Given the description of an element on the screen output the (x, y) to click on. 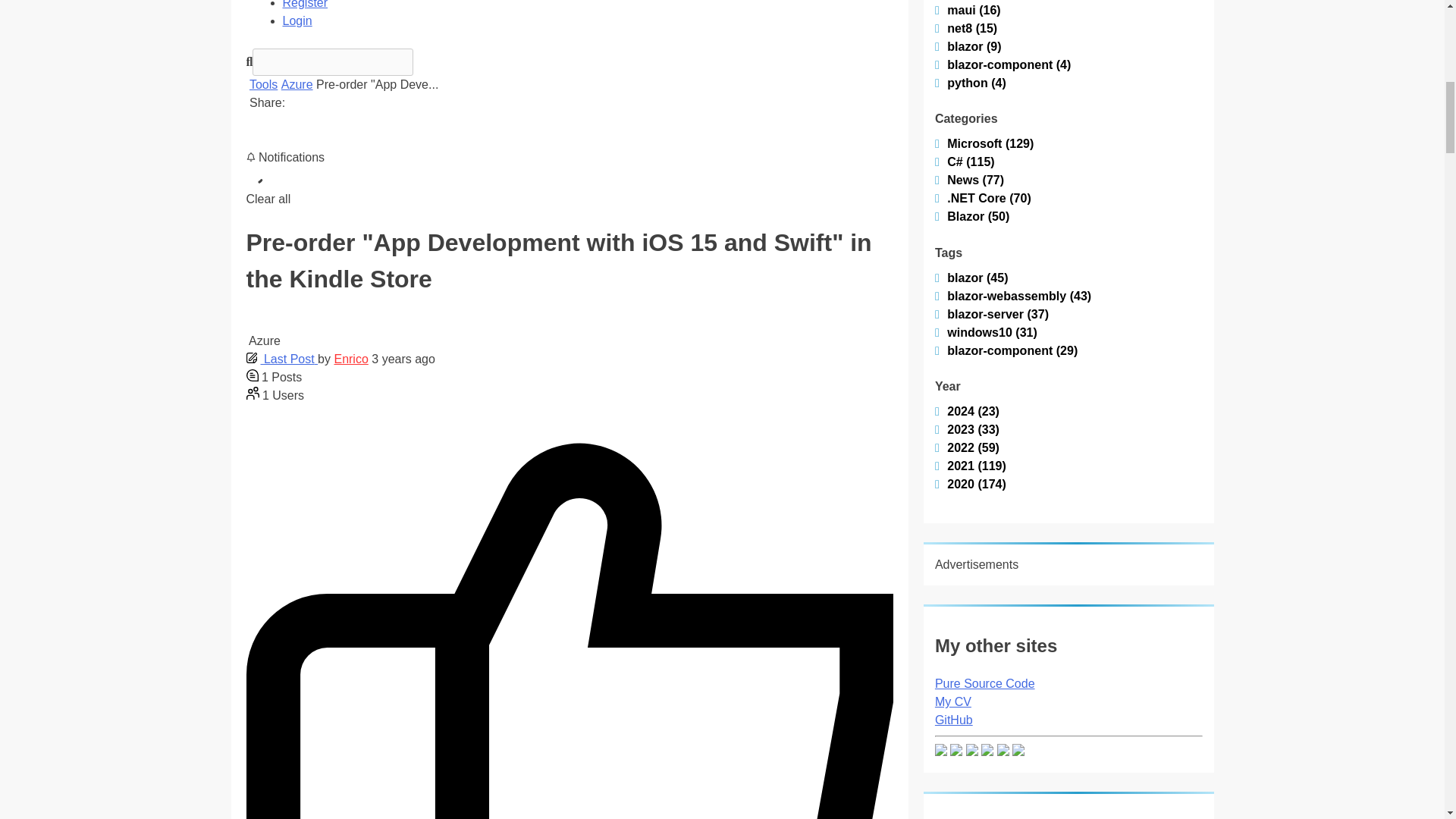
Last Post (281, 358)
Azure (297, 83)
Enrico (350, 358)
Register (304, 4)
Azure (297, 83)
Tools (263, 83)
Tools (263, 83)
Enrico (350, 358)
Login (296, 20)
